Given the description of an element on the screen output the (x, y) to click on. 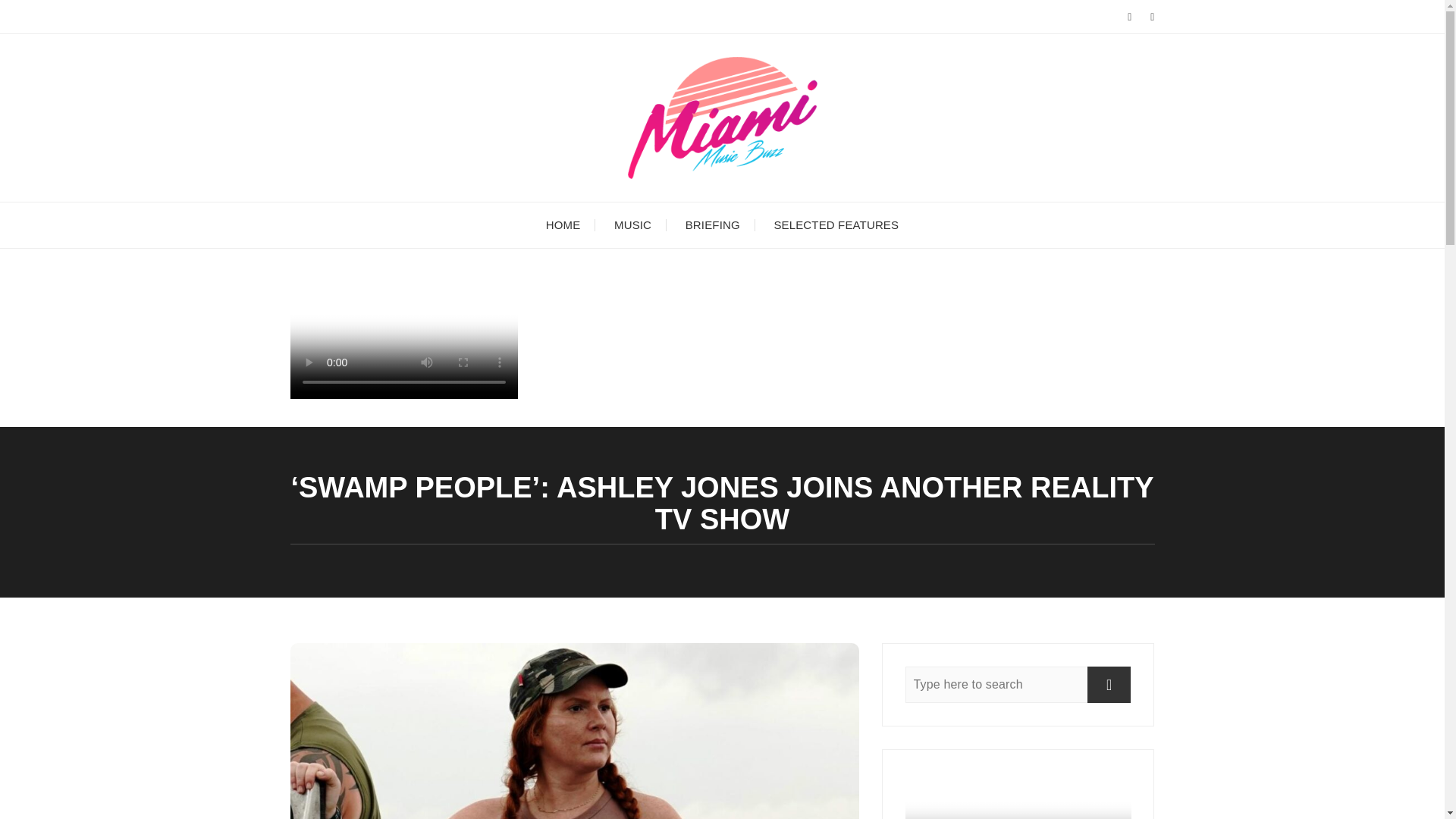
HOME (563, 225)
Follow on Instagram (402, 394)
MUSIC (632, 225)
SELECTED FEATURES (836, 225)
BRIEFING (712, 225)
